Given the description of an element on the screen output the (x, y) to click on. 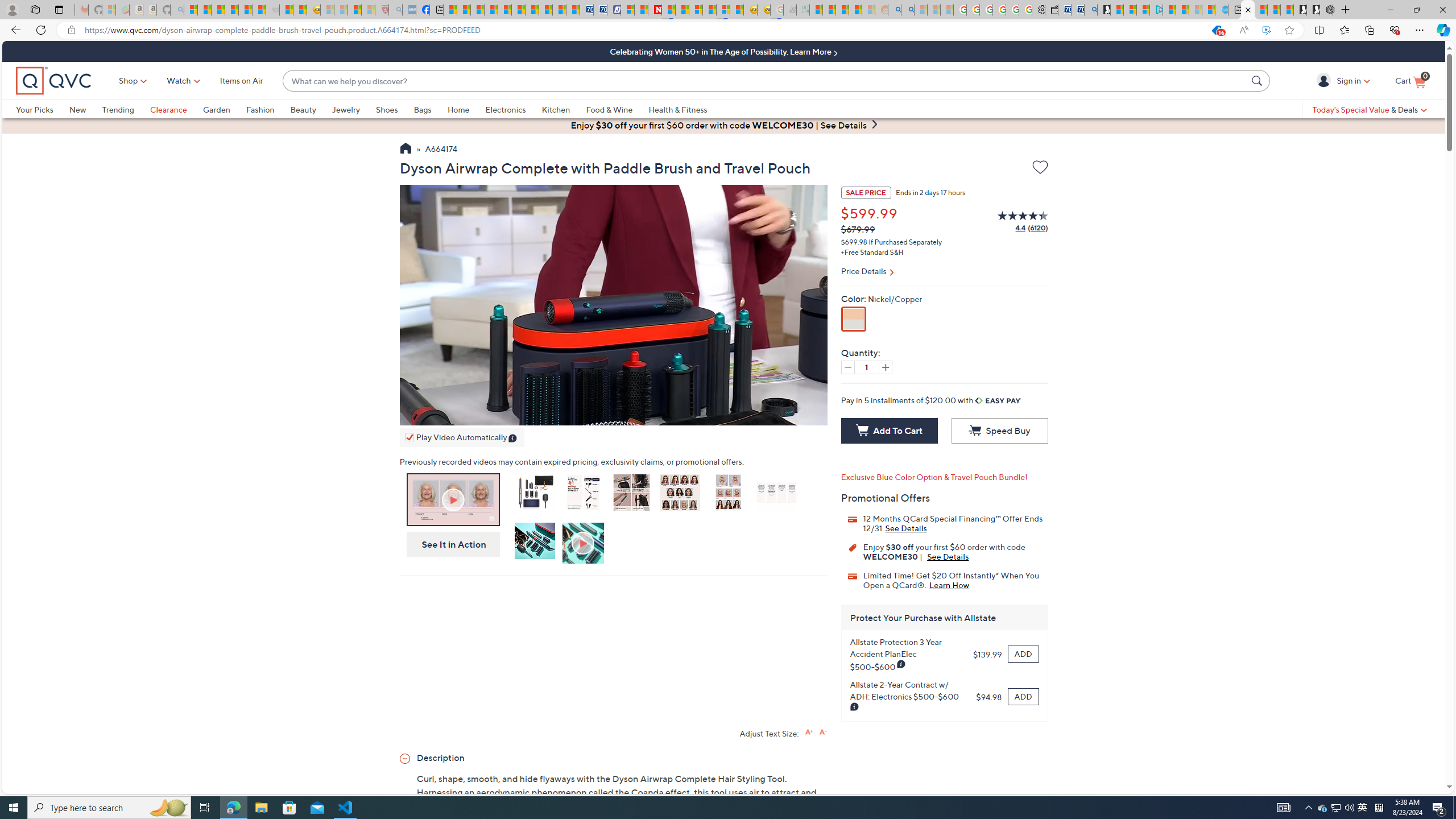
Combat Siege - Sleeping (271, 9)
Class: infoIcon fancybox fancybox.ajax (855, 706)
DITOGAMES AG Imprint - Sleeping (802, 9)
Robert H. Shmerling, MD - Harvard Health - Sleeping (381, 9)
